Given the description of an element on the screen output the (x, y) to click on. 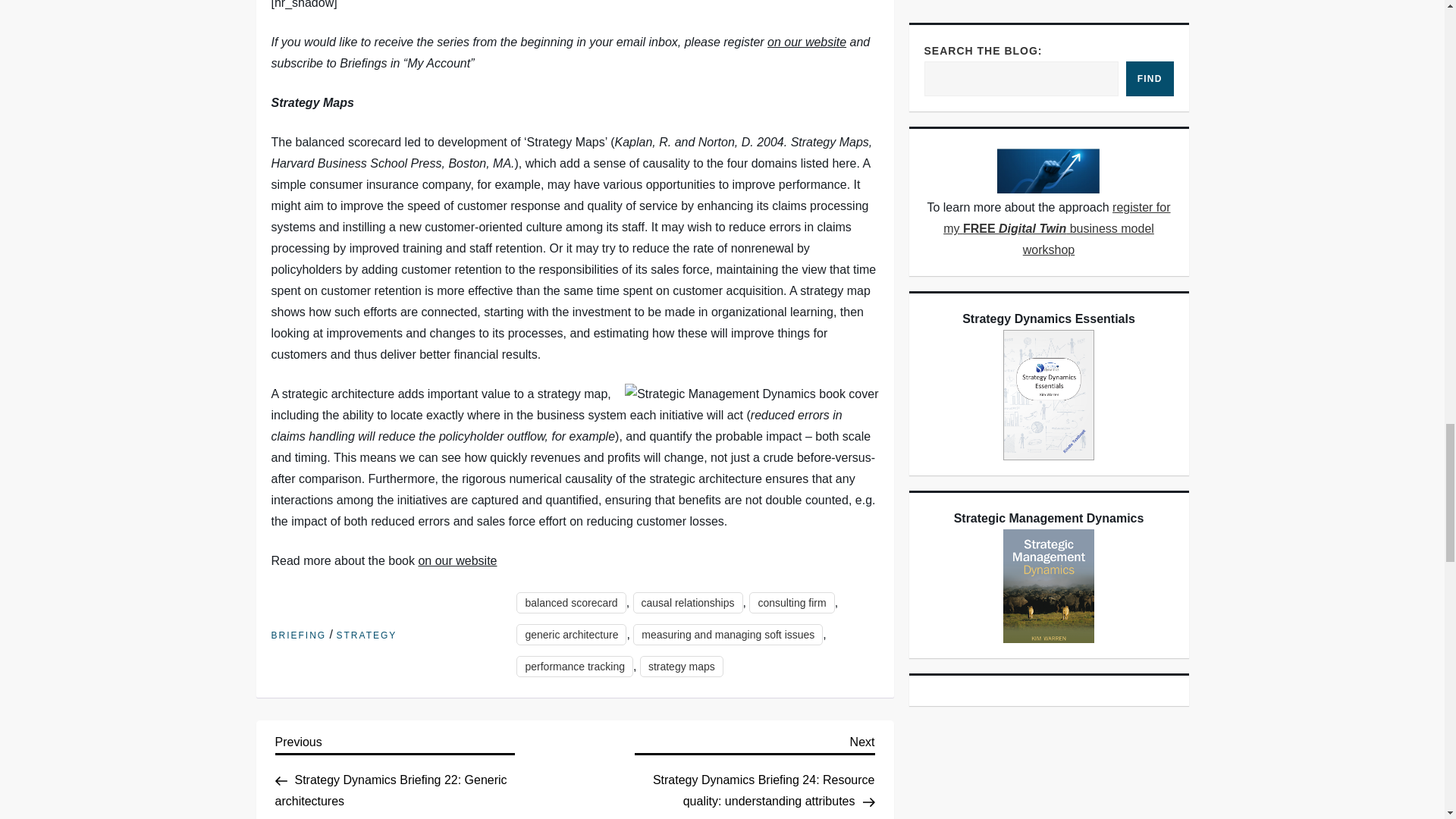
www.strategydynamics.com (806, 42)
STRATEGY (366, 635)
generic architecture (571, 634)
Book outline on the web (456, 560)
balanced scorecard (571, 602)
consulting firm (791, 602)
on our website (456, 560)
causal relationships (687, 602)
on our website (806, 42)
BRIEFING (298, 635)
strategy maps (681, 666)
performance tracking (574, 666)
measuring and managing soft issues (727, 634)
